Given the description of an element on the screen output the (x, y) to click on. 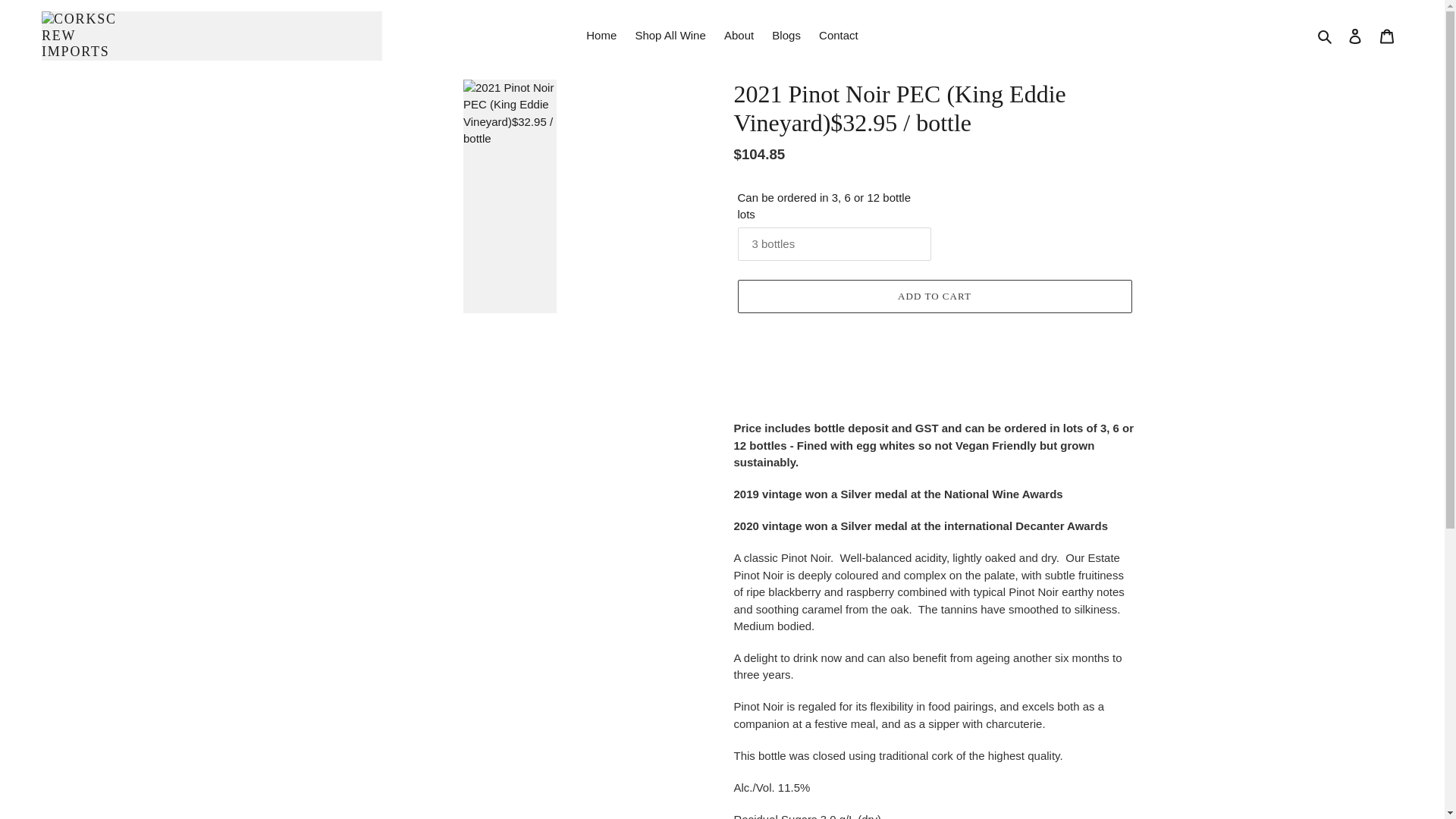
ADD TO CART (933, 296)
Search (1326, 35)
Contact (838, 35)
Shop All Wine (670, 35)
Log in (1355, 35)
Cart (1387, 35)
About (738, 35)
Blogs (786, 35)
Home (601, 35)
